Given the description of an element on the screen output the (x, y) to click on. 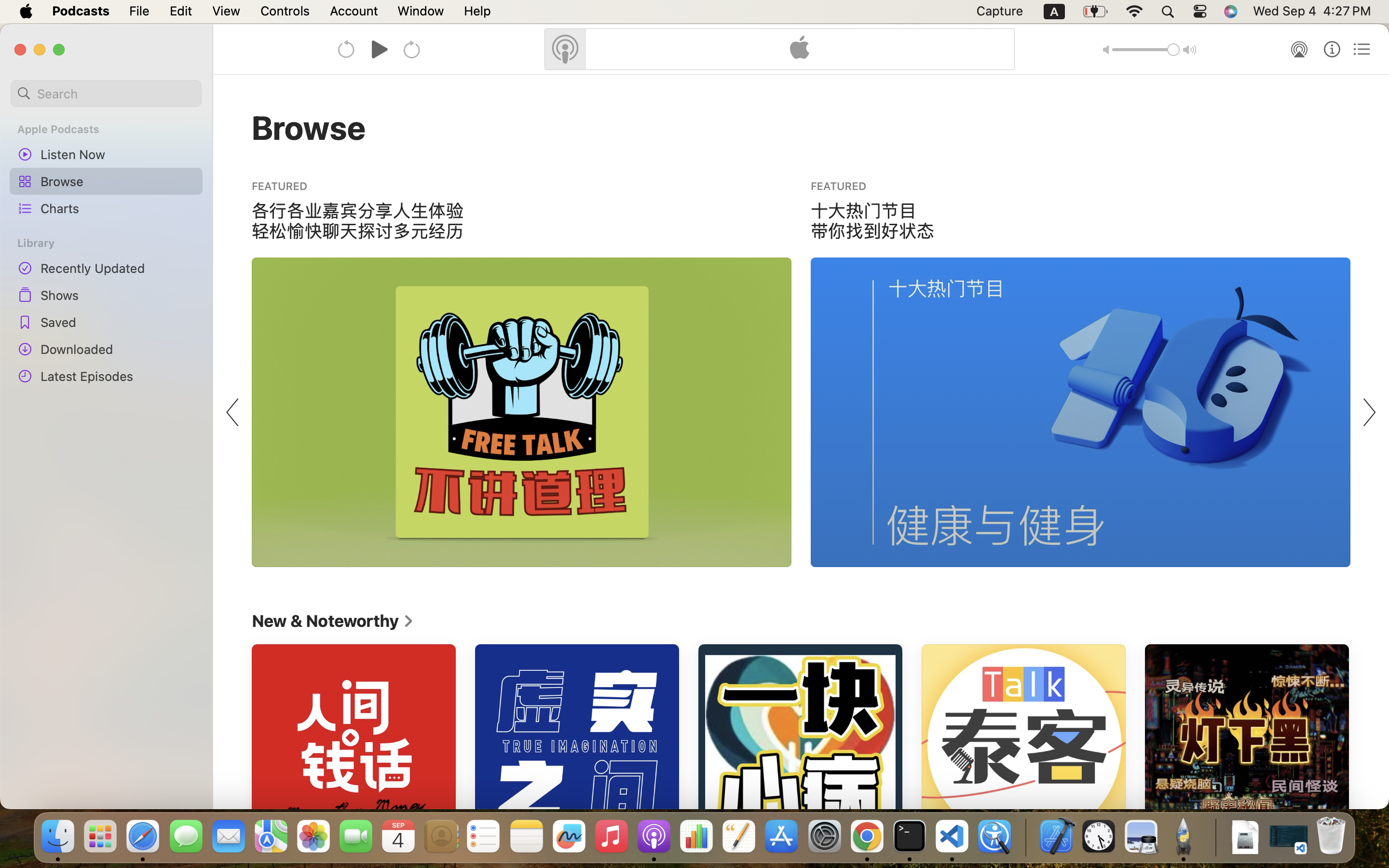
0.4285714328289032 Element type: AXDockItem (1024, 836)
1.0 Element type: AXSlider (1145, 49)
